Given the description of an element on the screen output the (x, y) to click on. 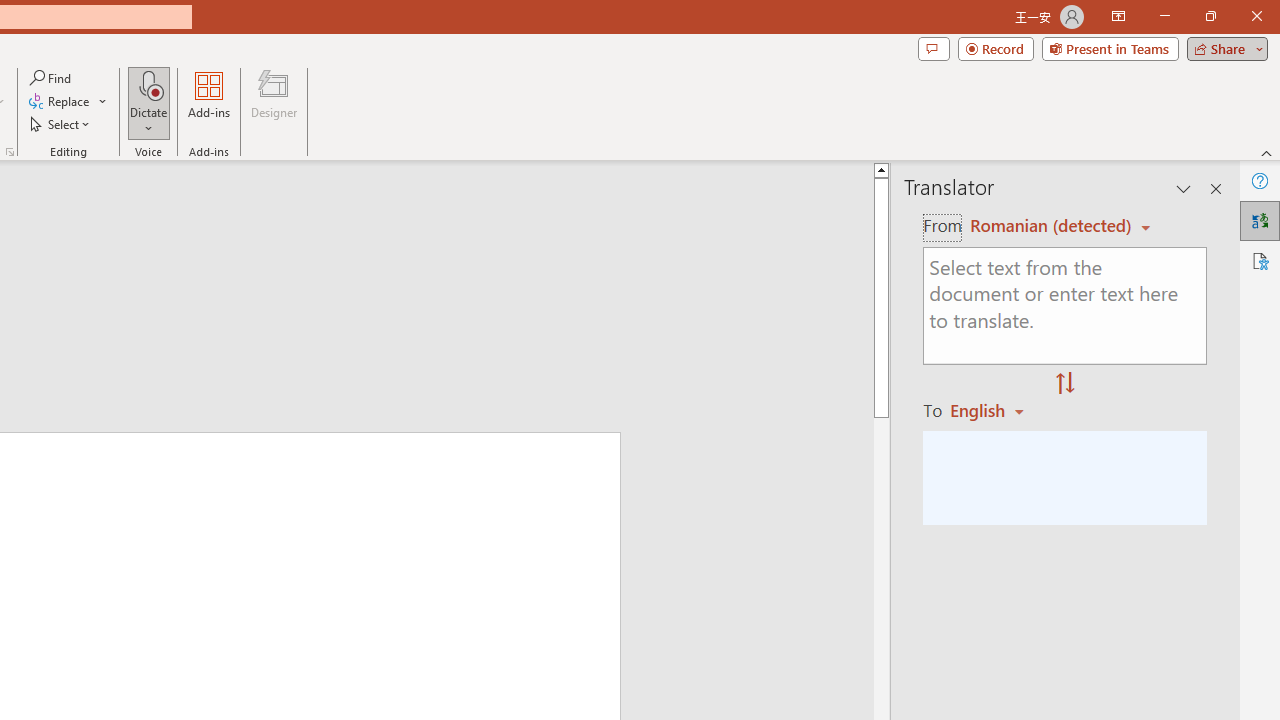
Replace... (68, 101)
Translator (1260, 220)
Designer (274, 102)
Select (61, 124)
Dictate (149, 84)
Dictate (149, 102)
Close pane (1215, 188)
Swap "from" and "to" languages. (1065, 383)
Find... (51, 78)
